Given the description of an element on the screen output the (x, y) to click on. 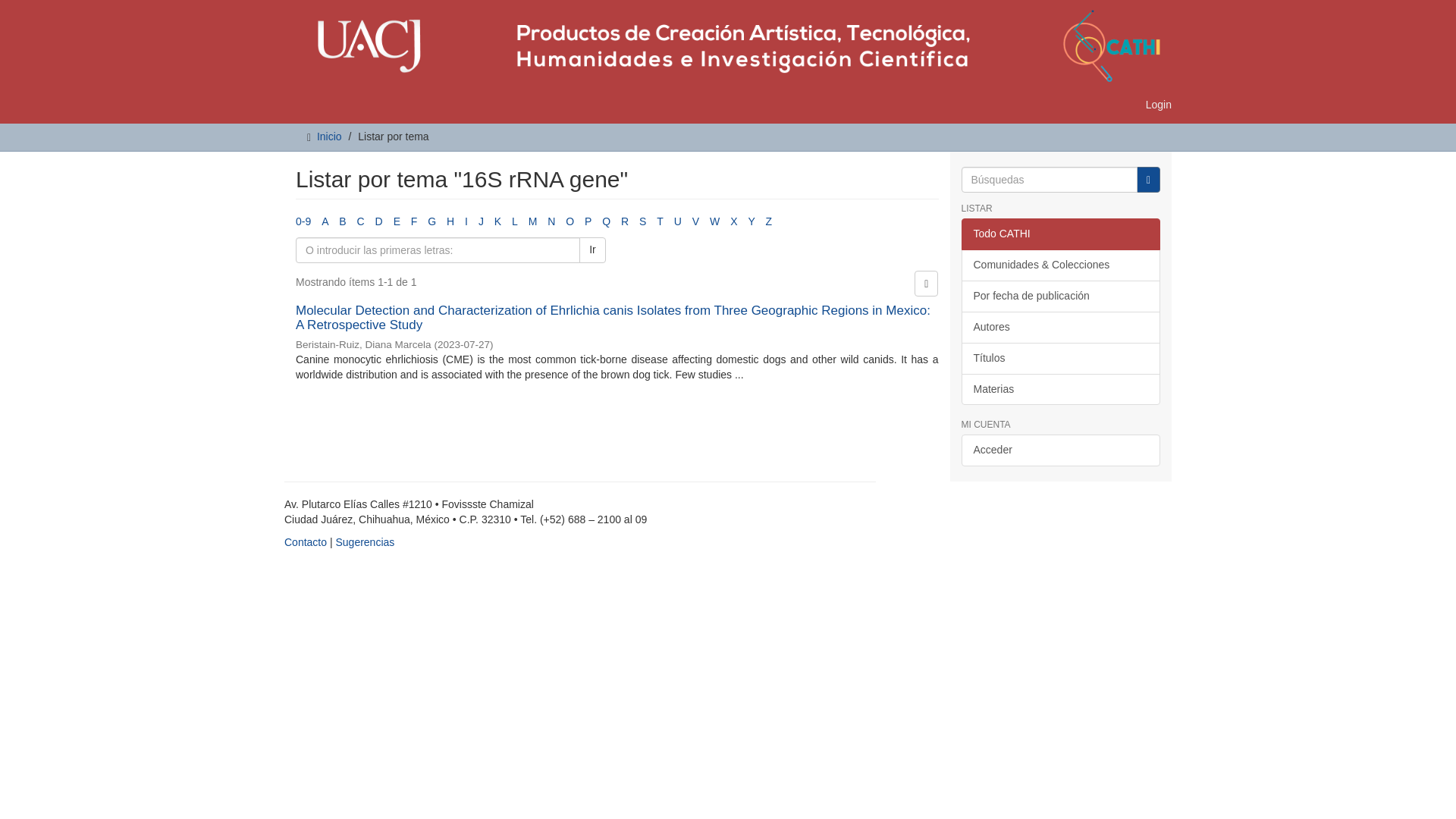
O (569, 221)
B (342, 221)
F (413, 221)
P (588, 221)
Ir (592, 249)
Ir (1148, 179)
A (325, 221)
U (677, 221)
Y (751, 221)
Z (769, 221)
E (396, 221)
D (378, 221)
H (450, 221)
0-9 (303, 221)
S (642, 221)
